Given the description of an element on the screen output the (x, y) to click on. 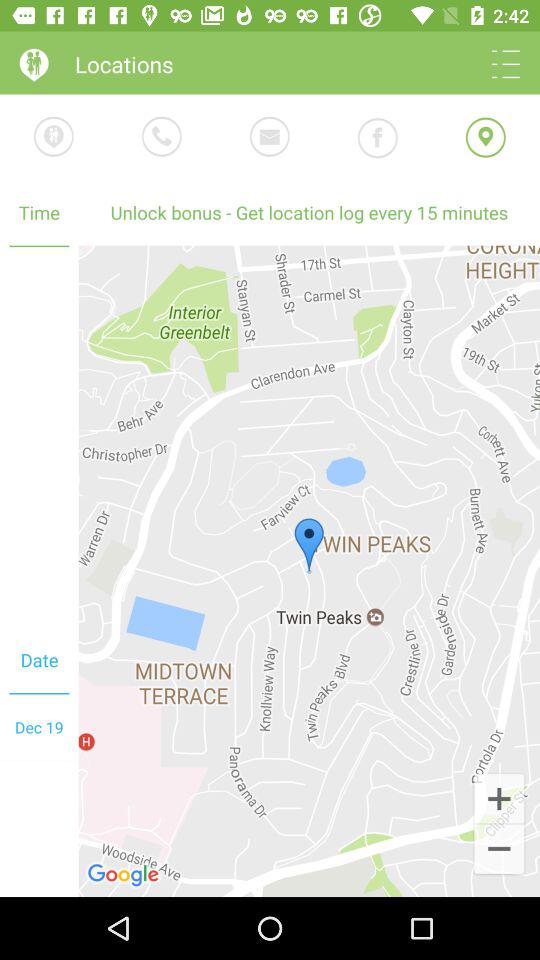
click unlock bonus get (309, 212)
